Given the description of an element on the screen output the (x, y) to click on. 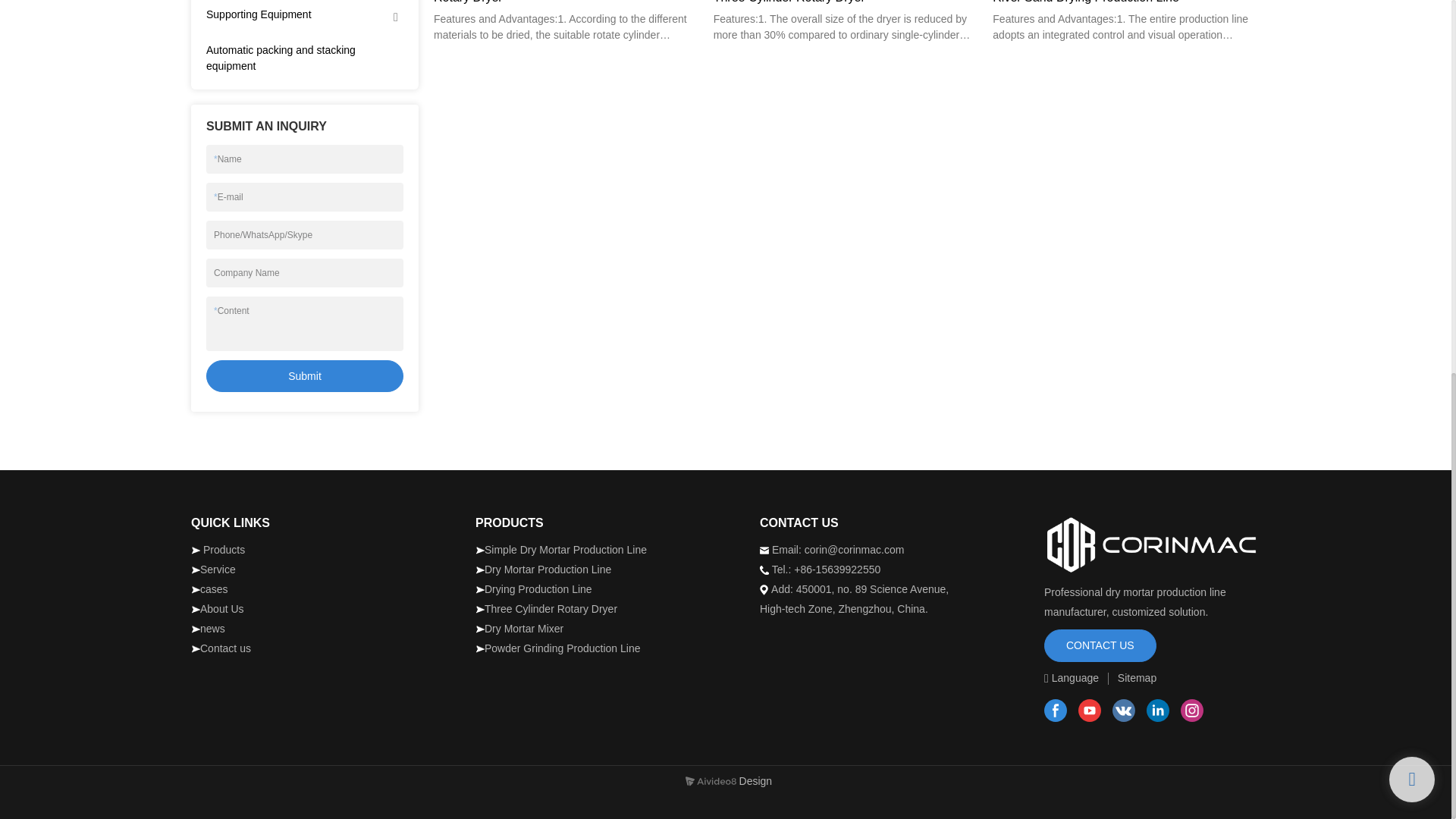
River Sand Drying Production Line (1126, 3)
Rotary Dryer (567, 3)
Three Cylinder Rotary Dryer (847, 3)
